Given the description of an element on the screen output the (x, y) to click on. 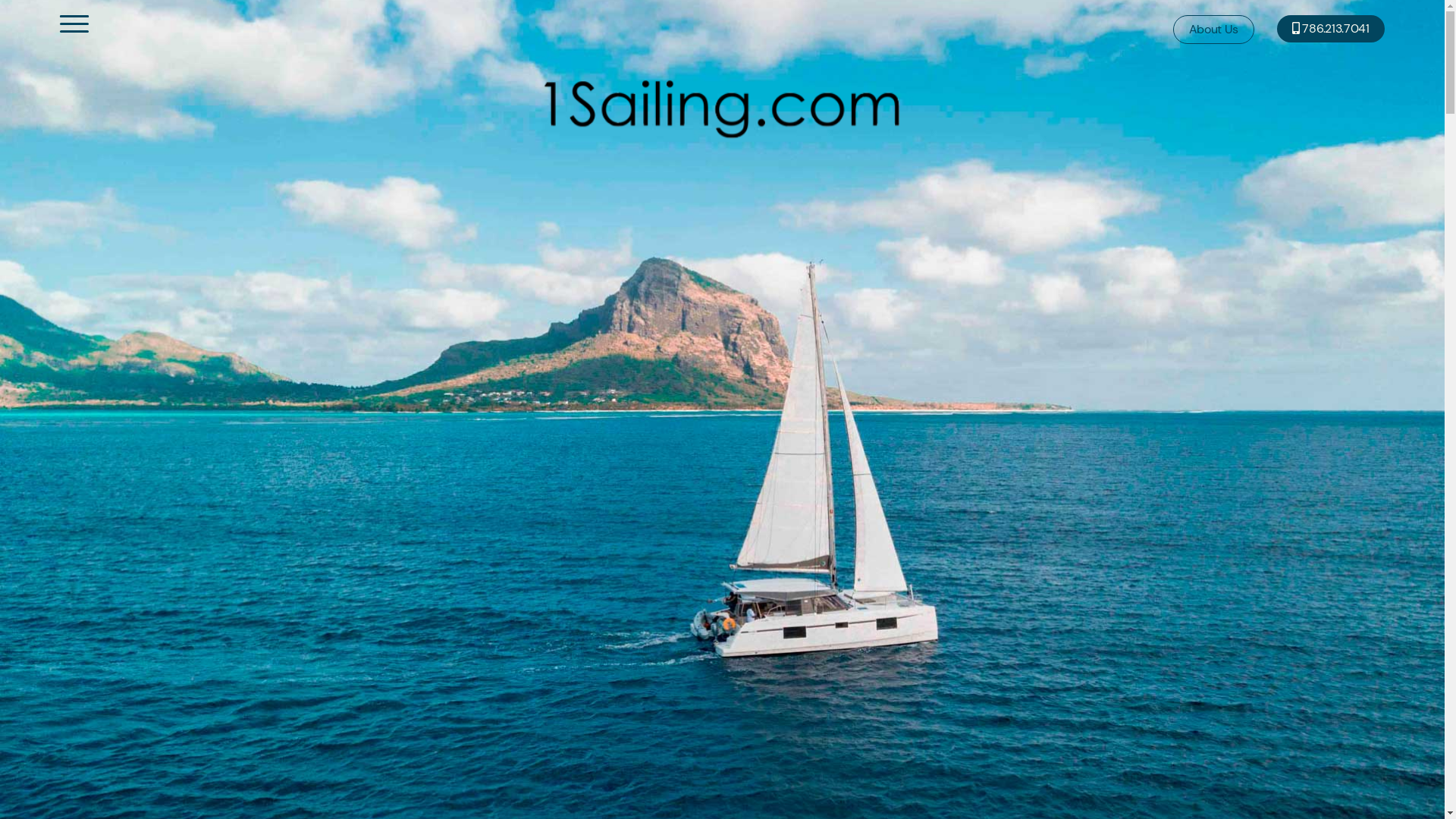
1Sailing.com Element type: hover (721, 108)
786.213.7041 Element type: text (1330, 28)
About Us Element type: text (1213, 29)
